Given the description of an element on the screen output the (x, y) to click on. 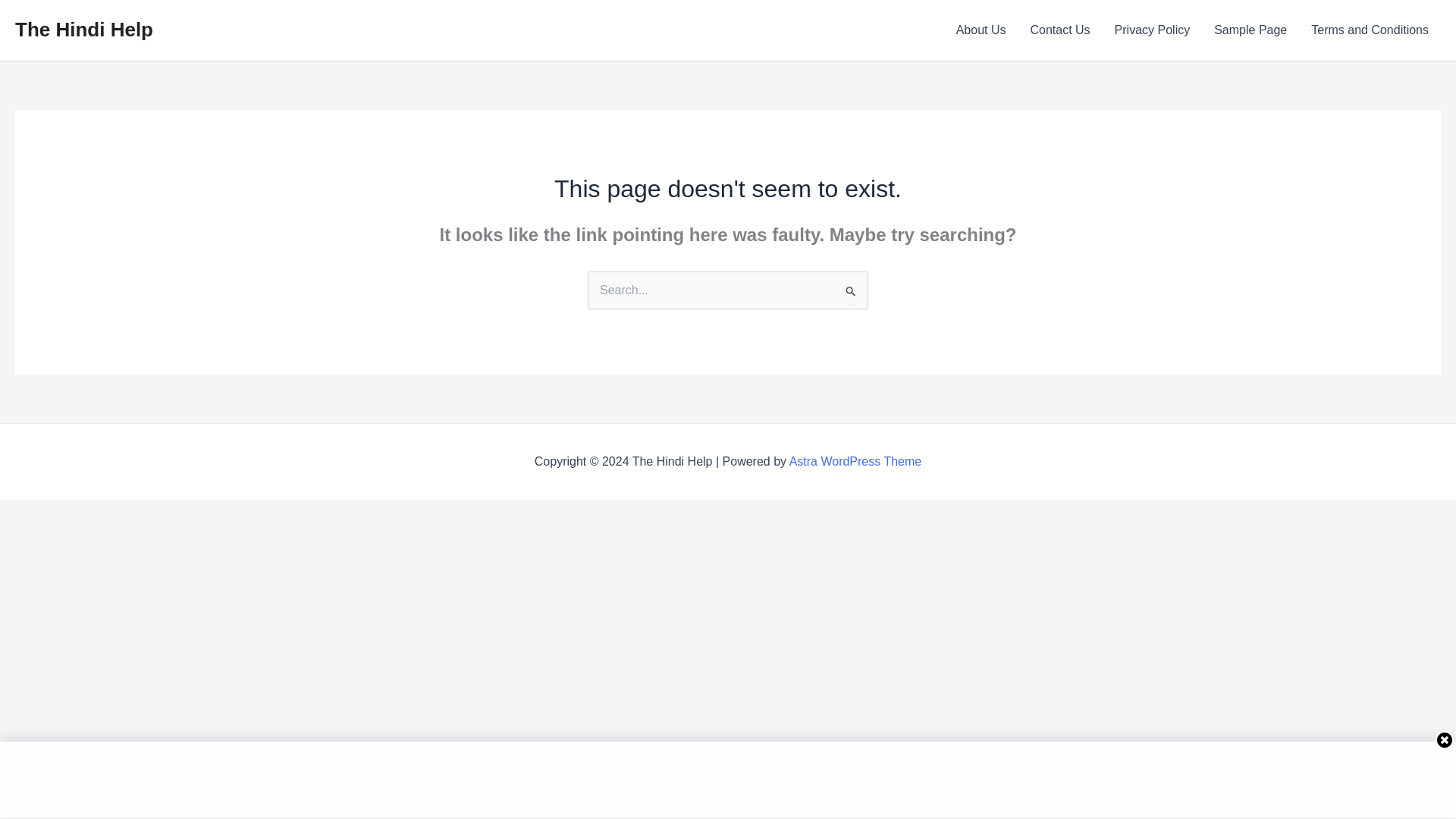
Sample Page (1250, 30)
About Us (980, 30)
Contact Us (1059, 30)
Search (850, 292)
The Hindi Help (83, 29)
Privacy Policy (1152, 30)
Search (850, 292)
Search (850, 292)
Terms and Conditions (1369, 30)
Astra WordPress Theme (855, 461)
